Given the description of an element on the screen output the (x, y) to click on. 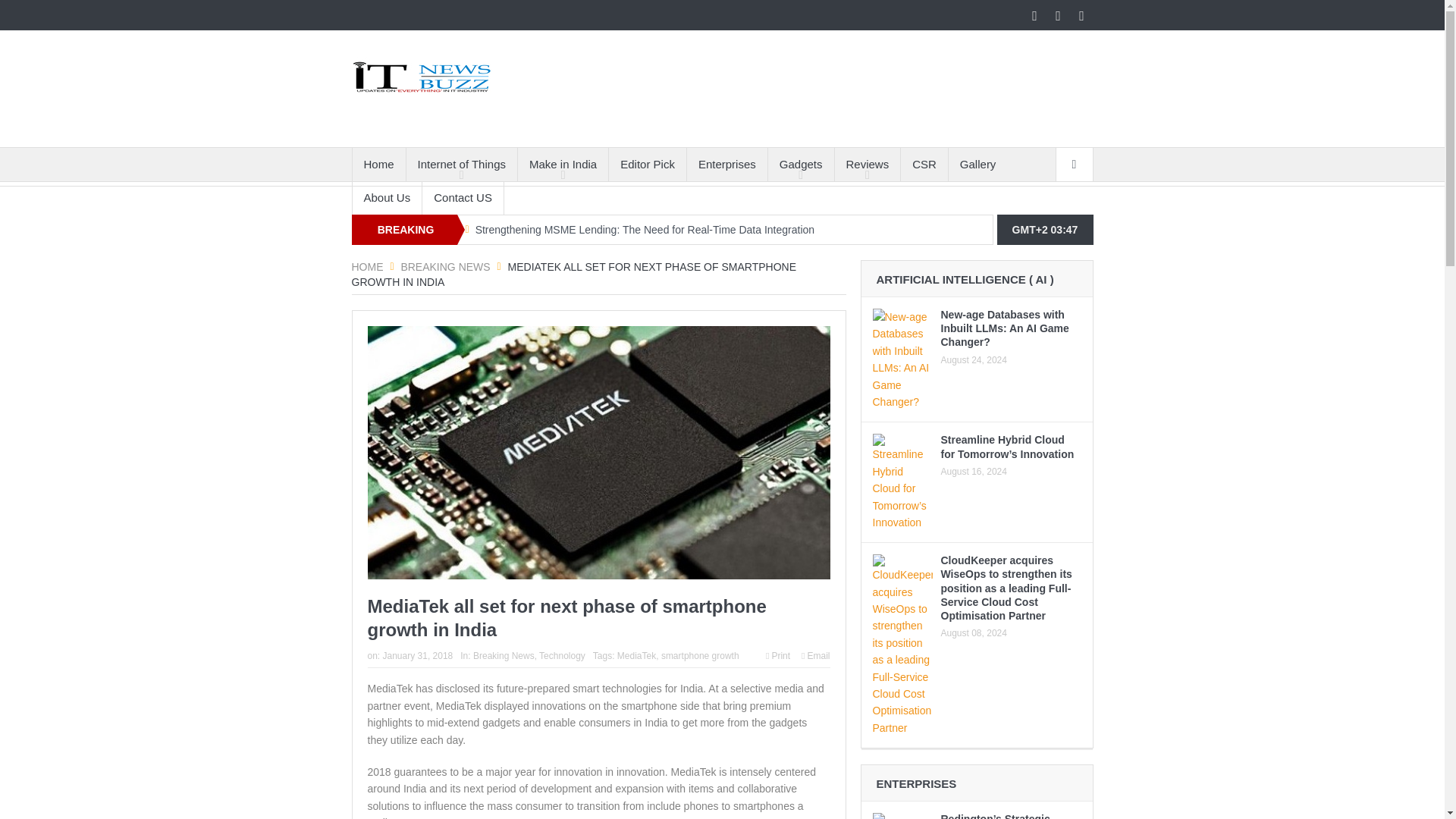
Make in India (563, 164)
View all posts in MediaTek (636, 655)
Breaking News (444, 266)
View all posts in Technology (561, 655)
Home (378, 164)
Internet of Things (461, 164)
View all posts in Breaking News (503, 655)
View all posts in smartphone growth (700, 655)
